Given the description of an element on the screen output the (x, y) to click on. 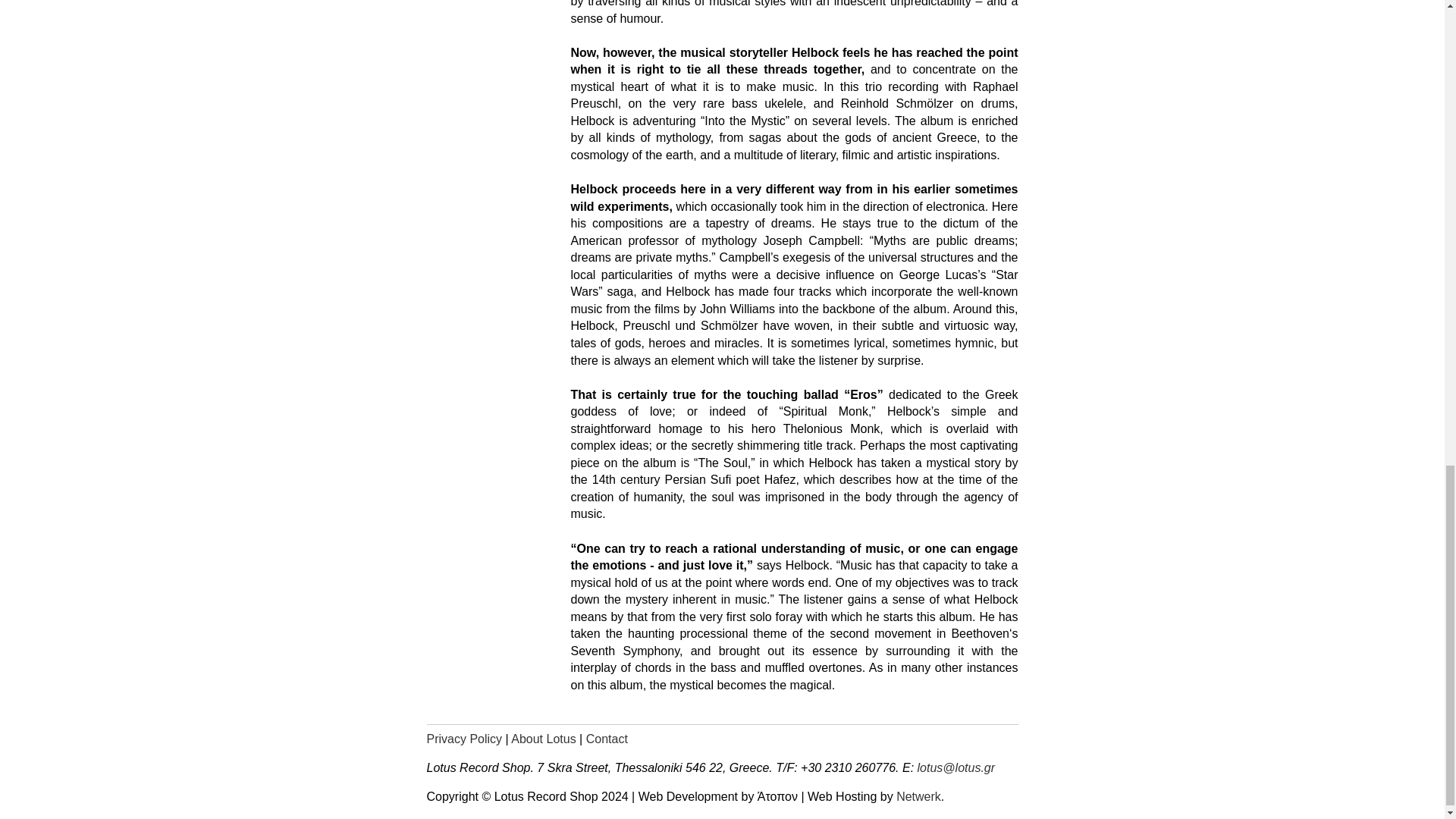
Contact (606, 738)
Privacy Policy (464, 738)
Netwerk (918, 796)
About Lotus (543, 738)
